Given the description of an element on the screen output the (x, y) to click on. 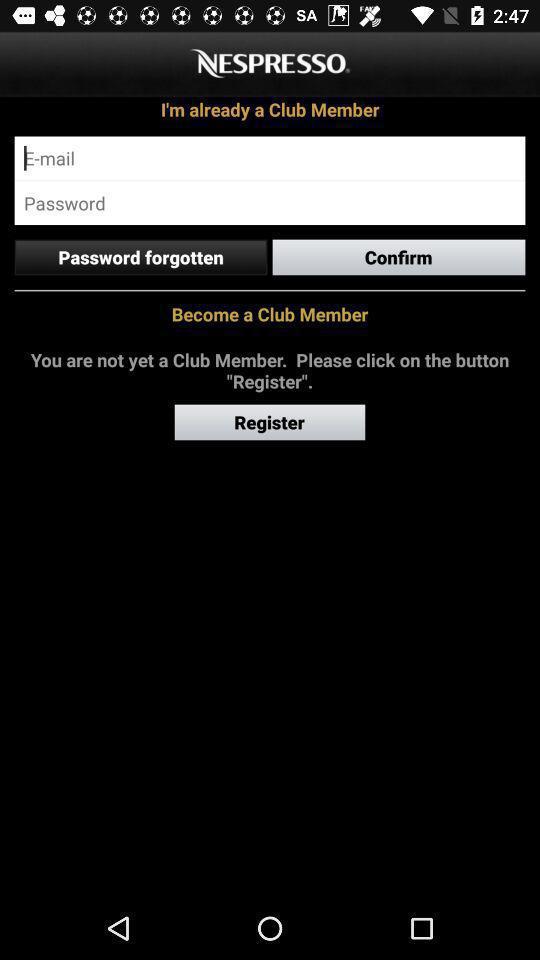
select password entry box (269, 203)
